Given the description of an element on the screen output the (x, y) to click on. 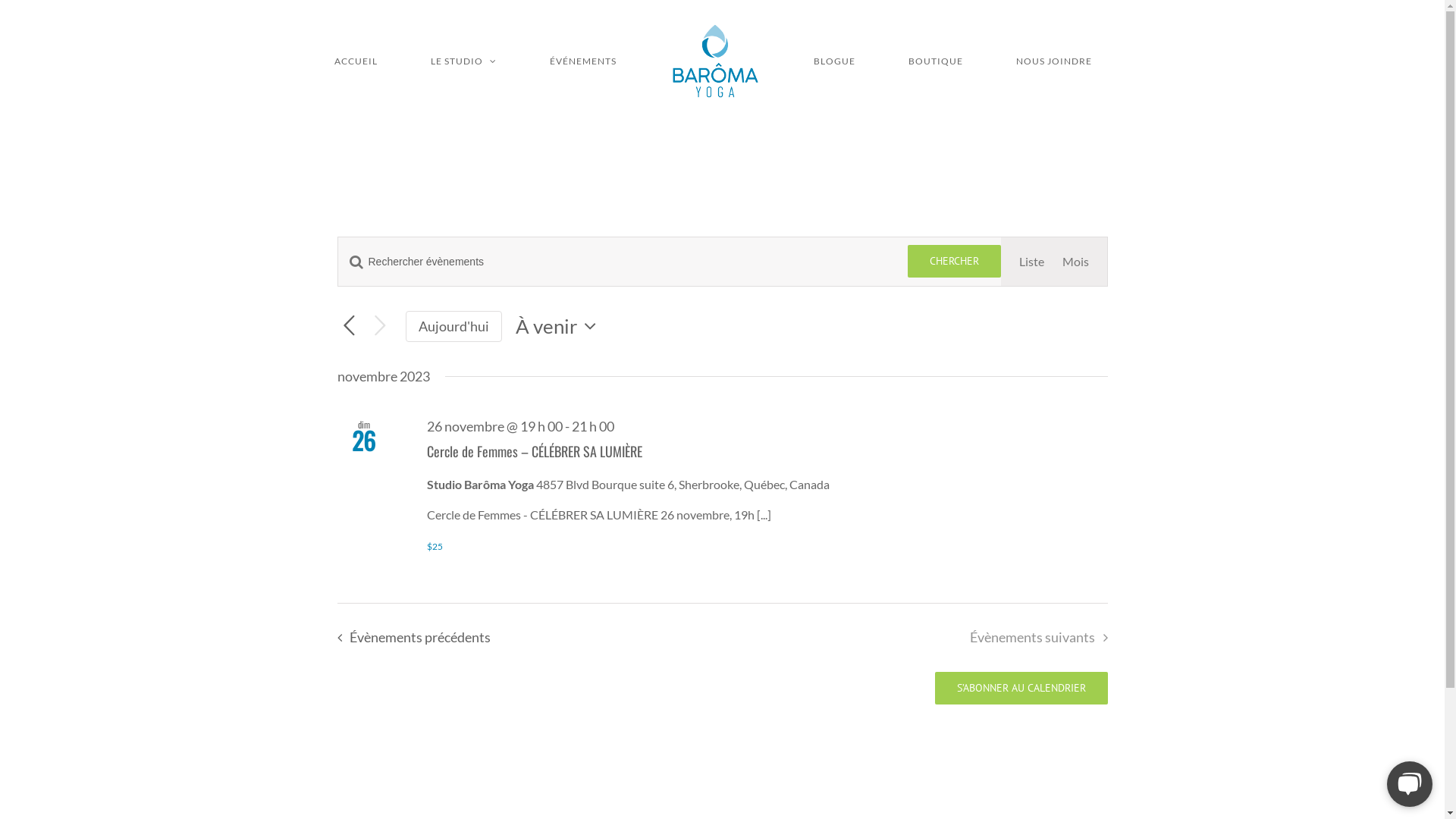
ACCUEIL Element type: text (355, 60)
LE STUDIO Element type: text (463, 60)
NOUS JOINDRE Element type: text (1053, 60)
BOUTIQUE Element type: text (935, 60)
BLOGUE Element type: text (834, 60)
Aujourd'hui Element type: text (453, 326)
Liste Element type: text (1031, 261)
CHERCHER Element type: text (953, 260)
Mois Element type: text (1074, 261)
